Given the description of an element on the screen output the (x, y) to click on. 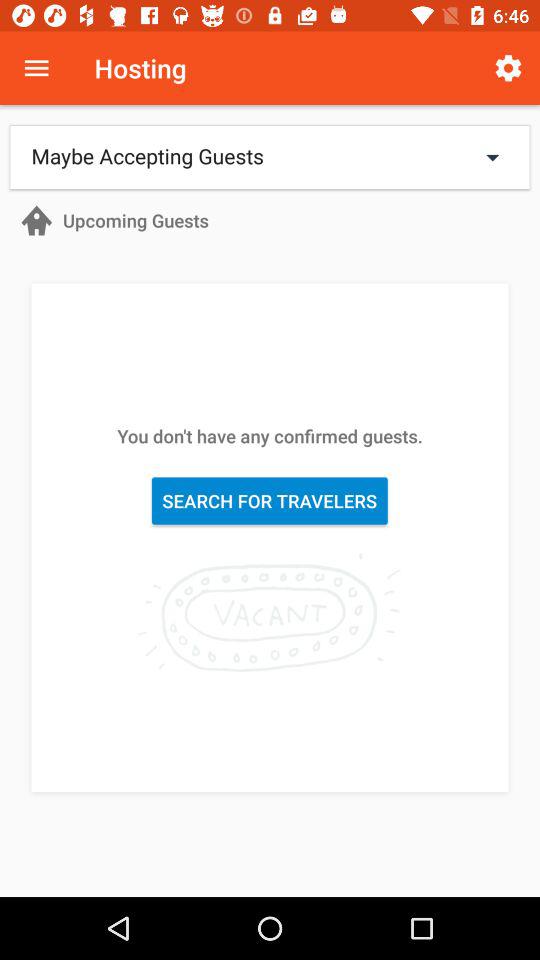
launch icon next to the hosting (36, 68)
